Given the description of an element on the screen output the (x, y) to click on. 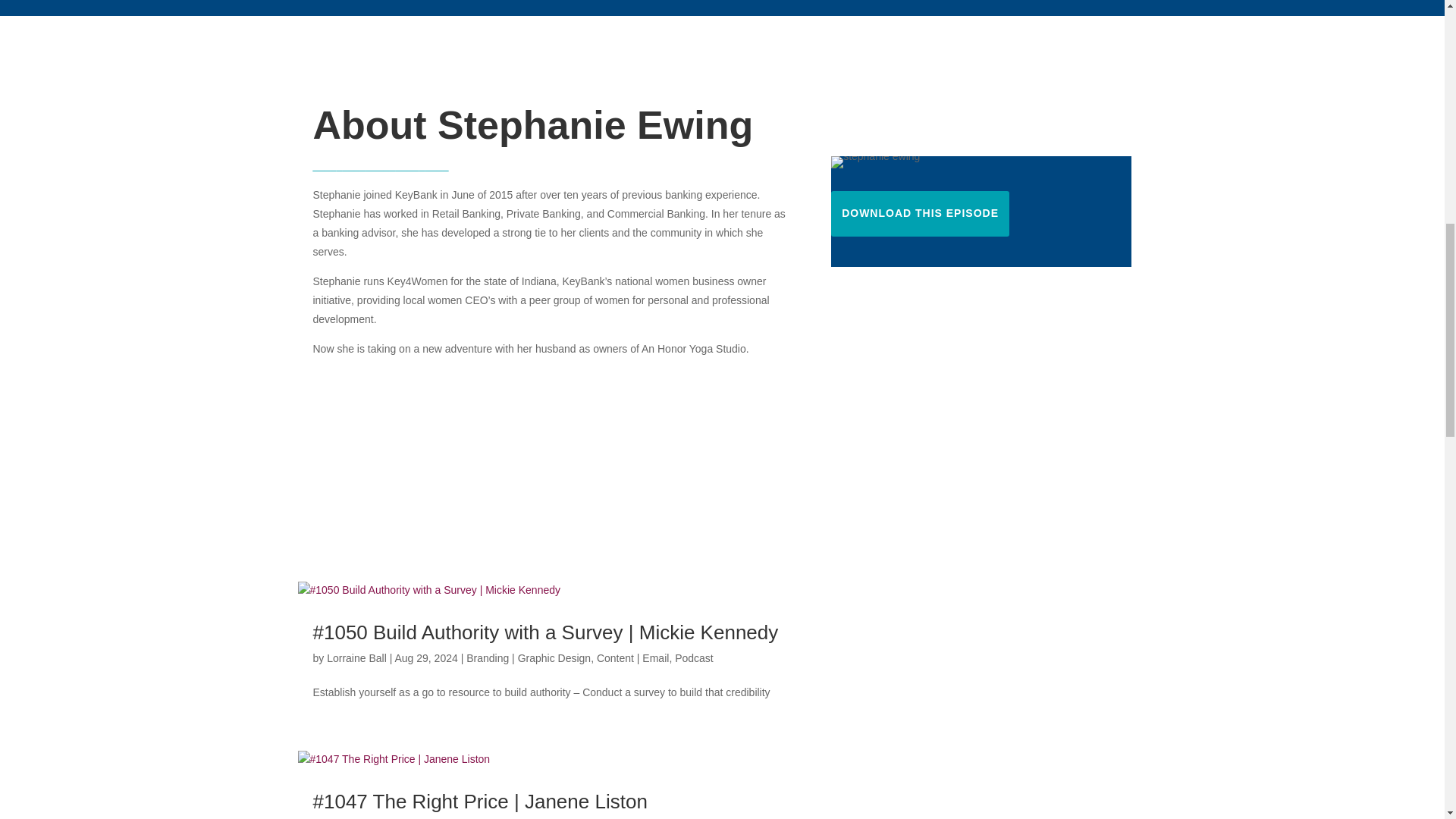
Posts by Lorraine Ball (356, 657)
Lorraine Ball (356, 657)
Podcast (694, 657)
DOWNLOAD THIS EPISODE (920, 213)
